Given the description of an element on the screen output the (x, y) to click on. 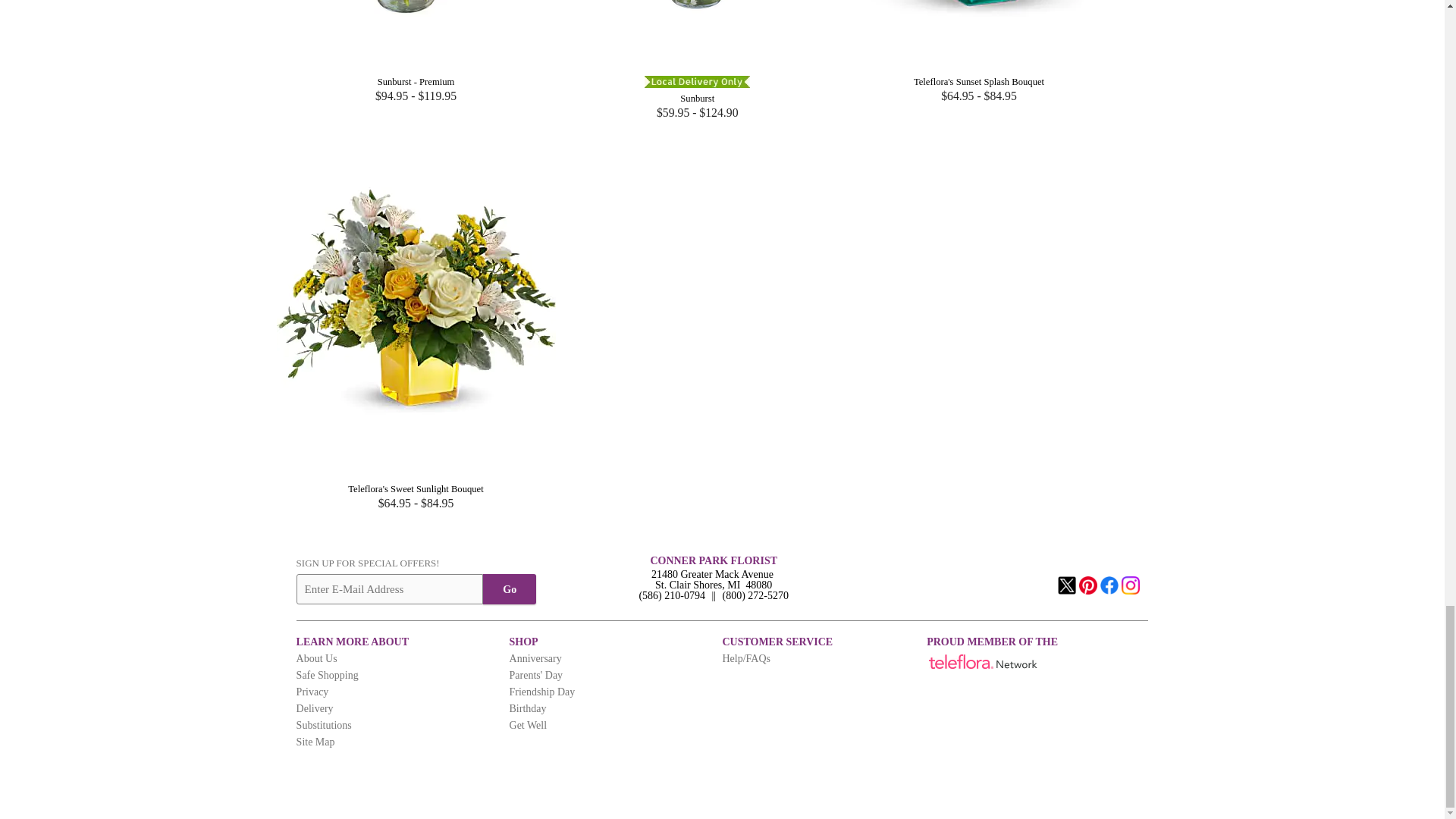
Go (509, 589)
go (509, 589)
Email Sign up (390, 589)
